Given the description of an element on the screen output the (x, y) to click on. 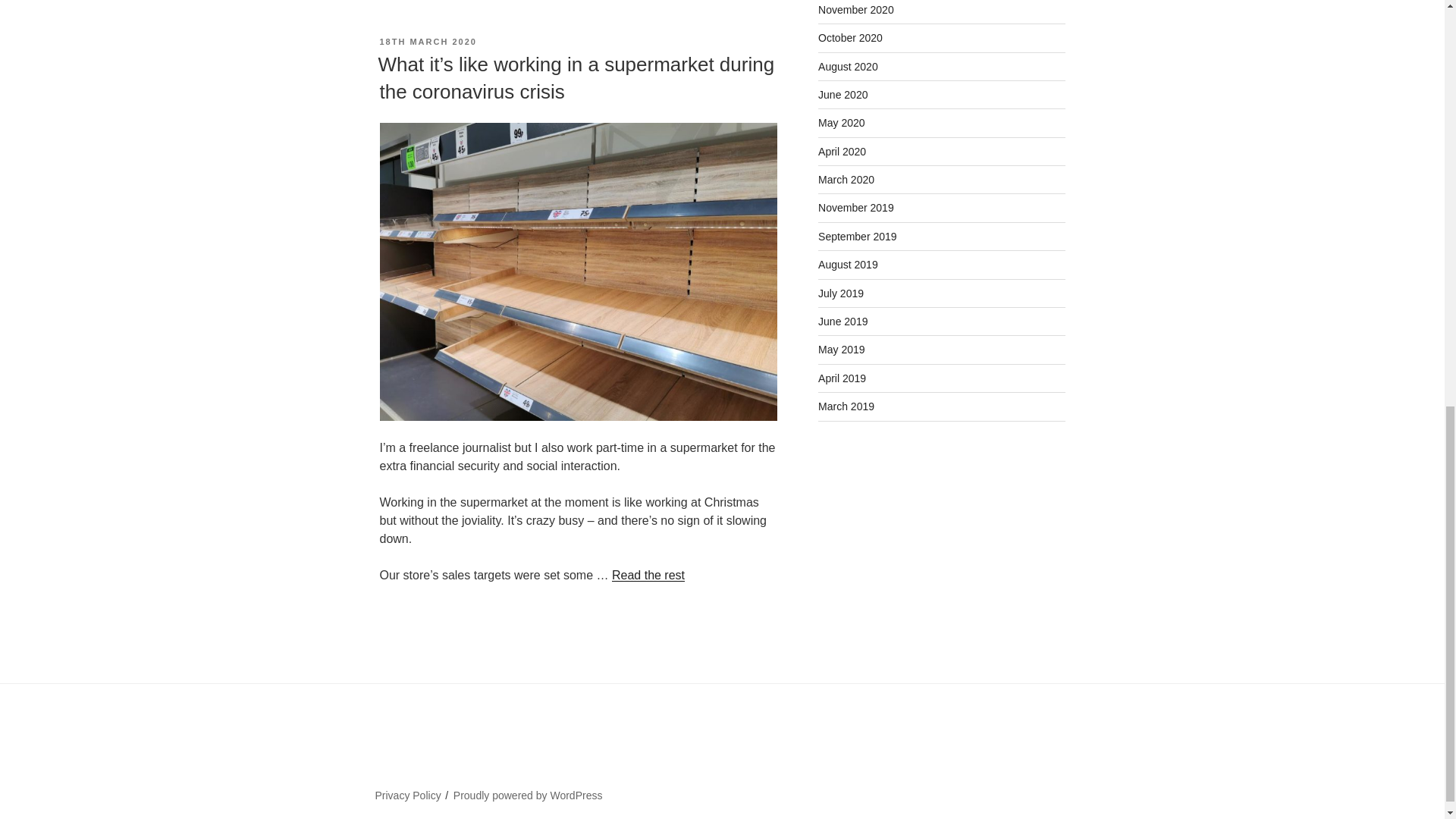
June 2019 (842, 321)
October 2020 (850, 37)
April 2020 (842, 151)
November 2020 (855, 9)
June 2020 (842, 94)
November 2019 (855, 207)
July 2019 (840, 293)
September 2019 (857, 236)
May 2020 (841, 122)
18TH MARCH 2020 (427, 40)
